Given the description of an element on the screen output the (x, y) to click on. 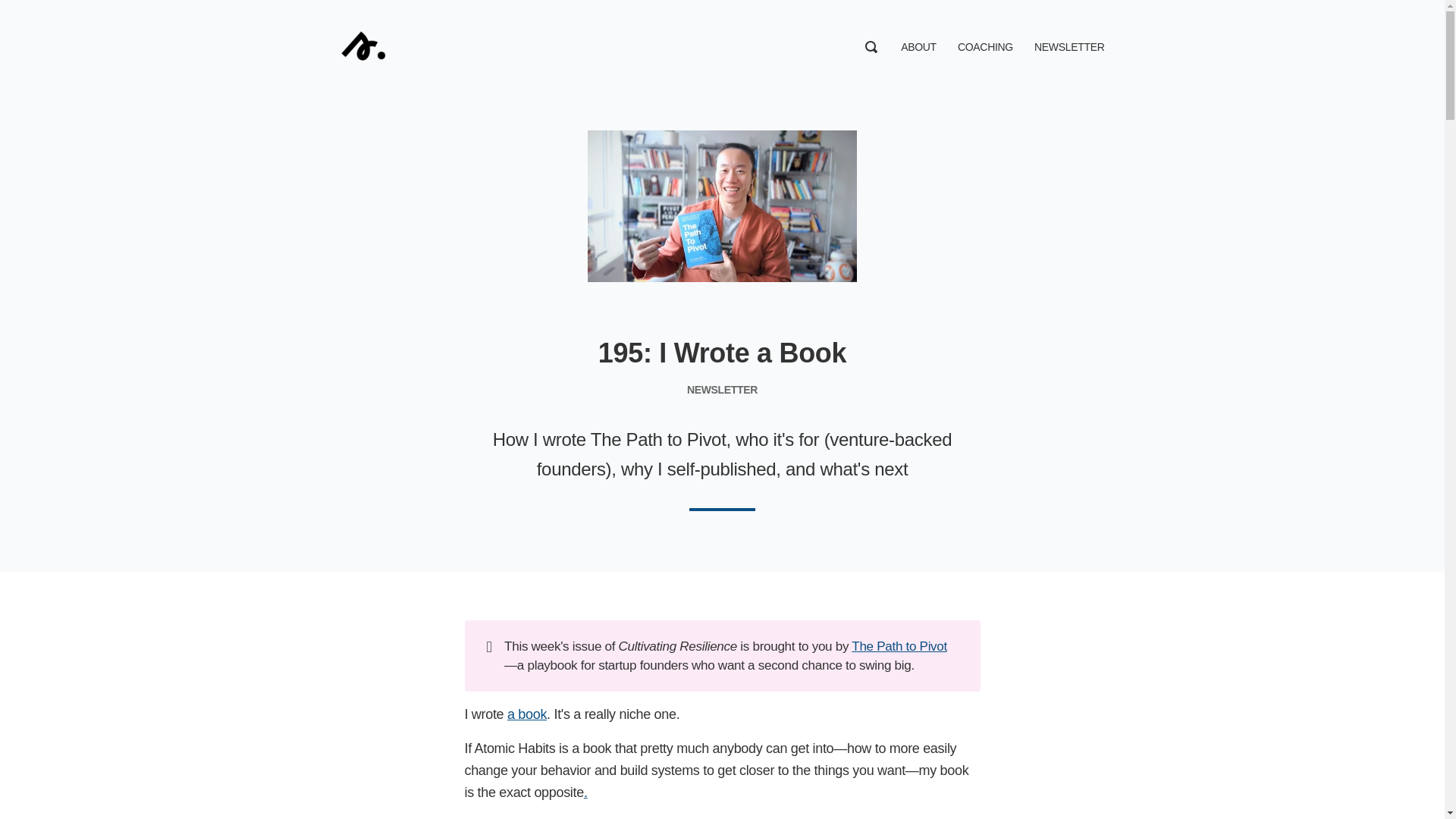
ABOUT (918, 47)
The Path to Pivot (899, 646)
a book (526, 713)
NEWSLETTER (1068, 47)
COACHING (985, 47)
